Given the description of an element on the screen output the (x, y) to click on. 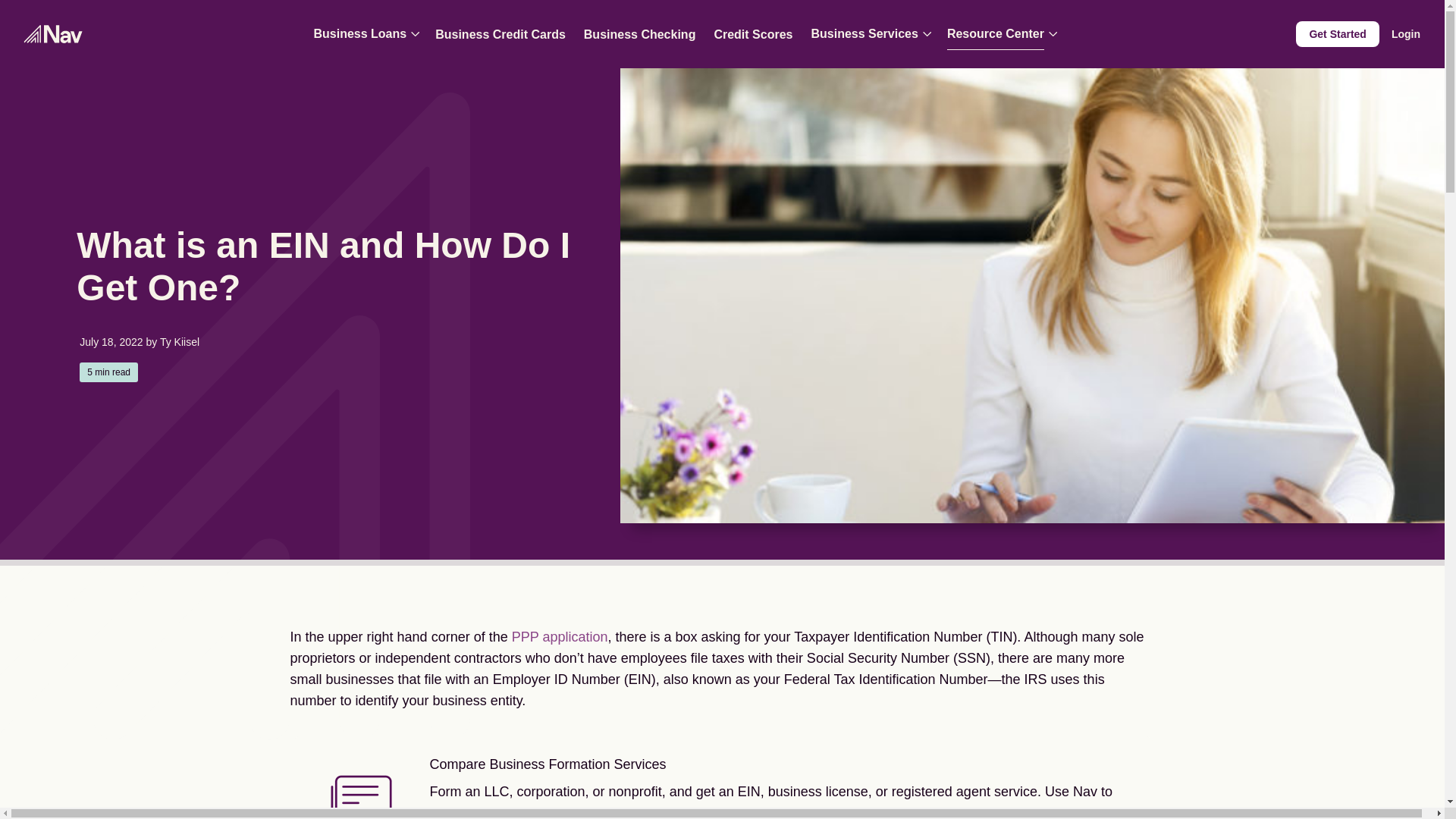
Nav (52, 34)
